Given the description of an element on the screen output the (x, y) to click on. 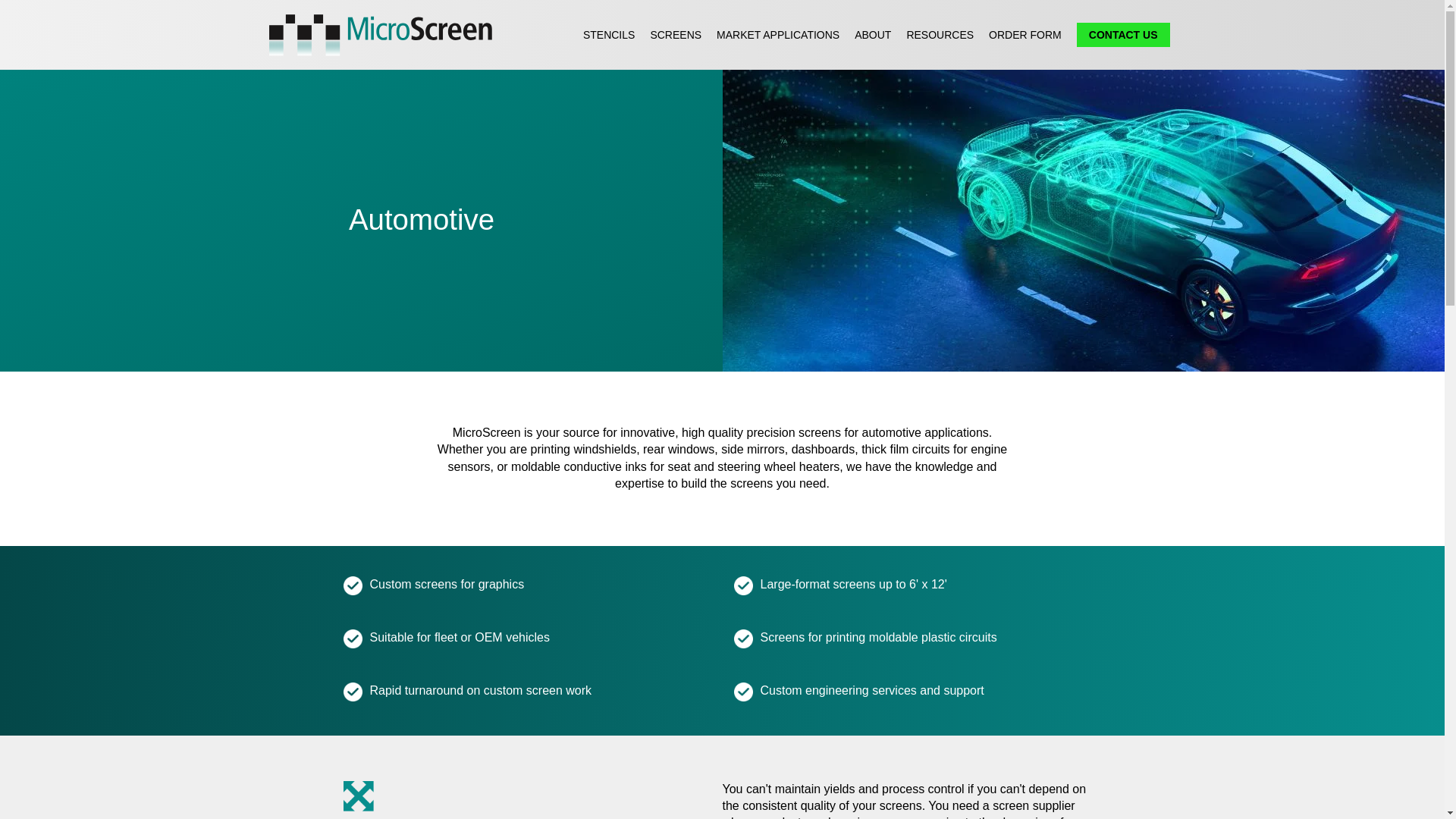
MARKET APPLICATIONS (778, 34)
RESOURCES (939, 34)
ABOUT (872, 34)
STENCILS (608, 34)
MSLogo-color-1 (380, 34)
ORDER FORM (1024, 34)
CONTACT US (1123, 34)
SCREENS (675, 34)
